Given the description of an element on the screen output the (x, y) to click on. 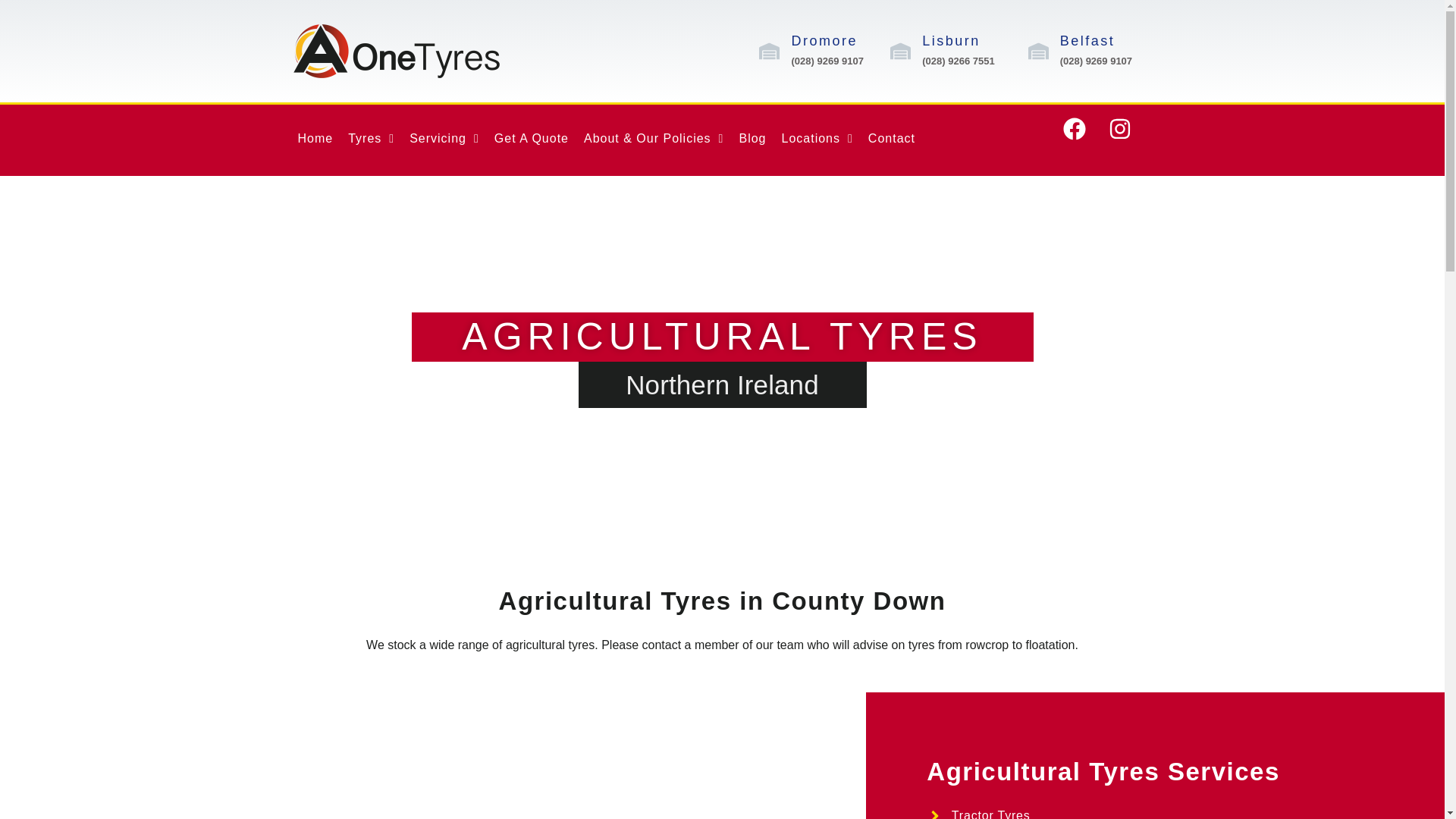
Contact (891, 138)
Locations (816, 138)
Servicing (443, 138)
Blog (751, 138)
Tyres (370, 138)
Home (314, 138)
Instagram (1131, 139)
Facebook (1085, 139)
Get A Quote (531, 138)
